Given the description of an element on the screen output the (x, y) to click on. 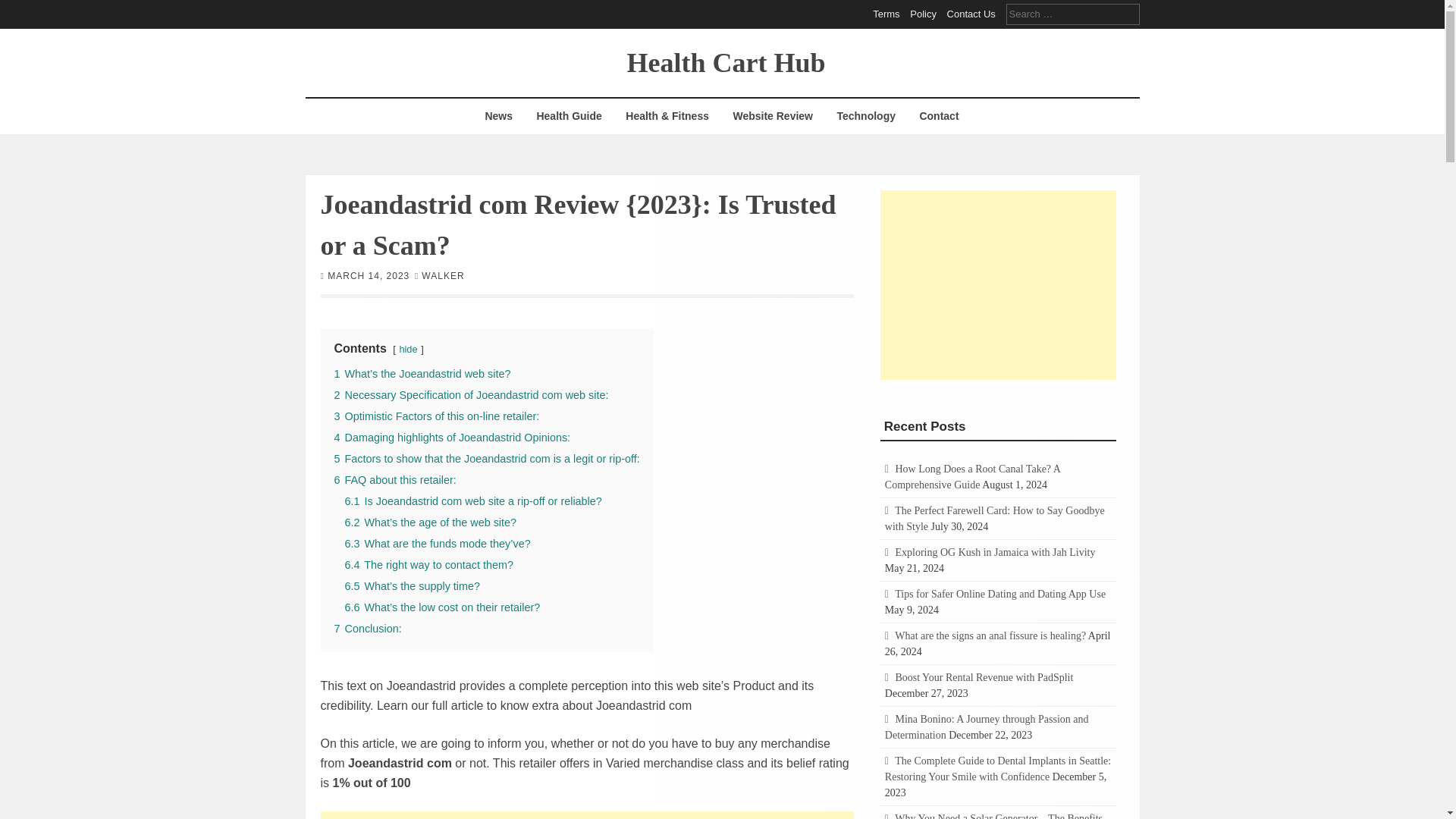
The Perfect Farewell Card: How to Say Goodbye with Style (995, 518)
Website Review (772, 116)
MARCH 14, 2023 (368, 275)
WALKER (443, 275)
Contact (938, 116)
6 FAQ about this retailer: (394, 479)
Policy (923, 13)
Health Cart Hub (725, 61)
6.1 Is Joeandastrid com web site a rip-off or reliable? (472, 500)
7 Conclusion: (367, 627)
